Given the description of an element on the screen output the (x, y) to click on. 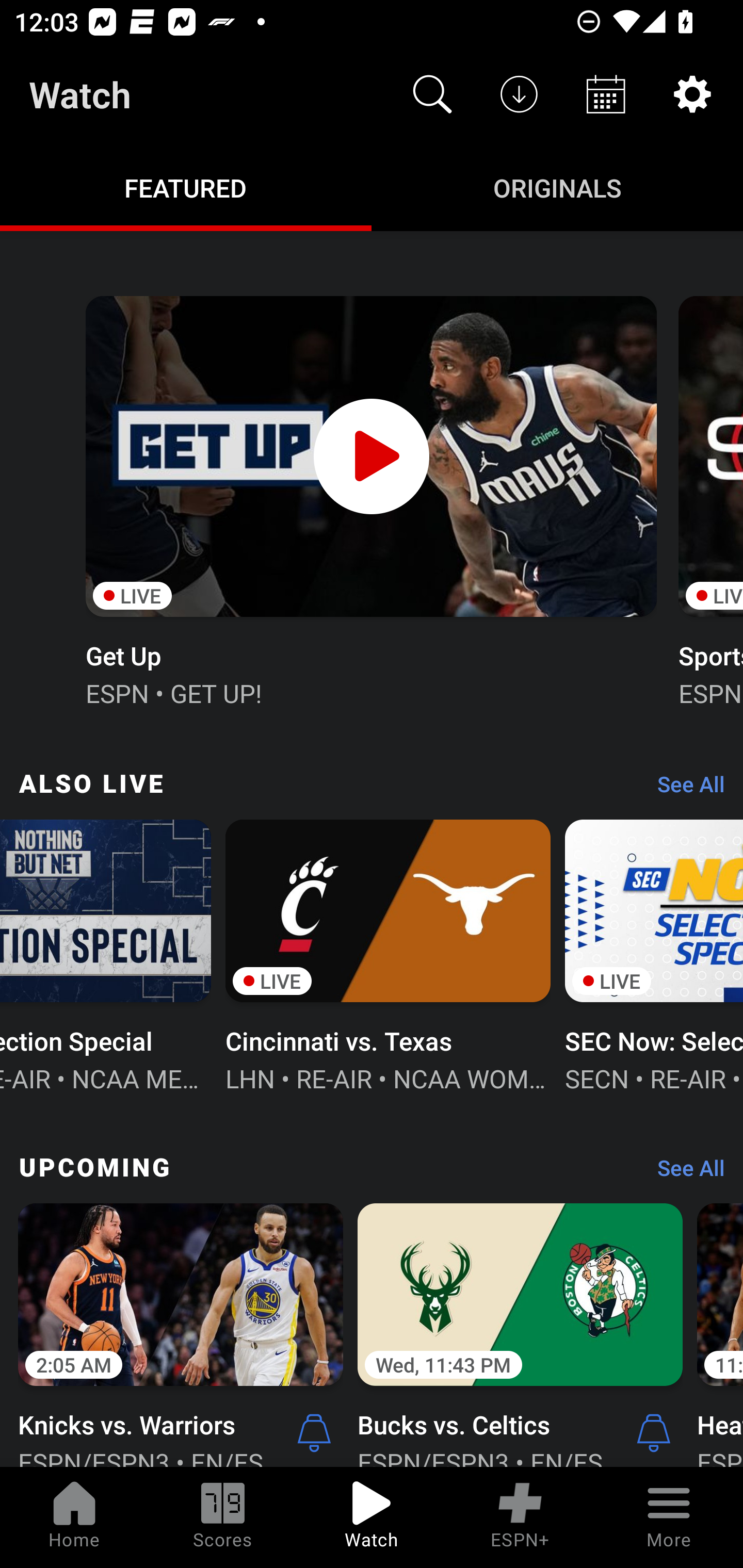
Search (432, 93)
Downloads (518, 93)
Schedule (605, 93)
Settings (692, 93)
Originals ORIGINALS (557, 187)
 LIVE Get Up ESPN • GET UP! (370, 499)
See All (683, 788)
See All (683, 1172)
Alerts (314, 1432)
Alerts (653, 1432)
Home (74, 1517)
Scores (222, 1517)
ESPN+ (519, 1517)
More (668, 1517)
